Given the description of an element on the screen output the (x, y) to click on. 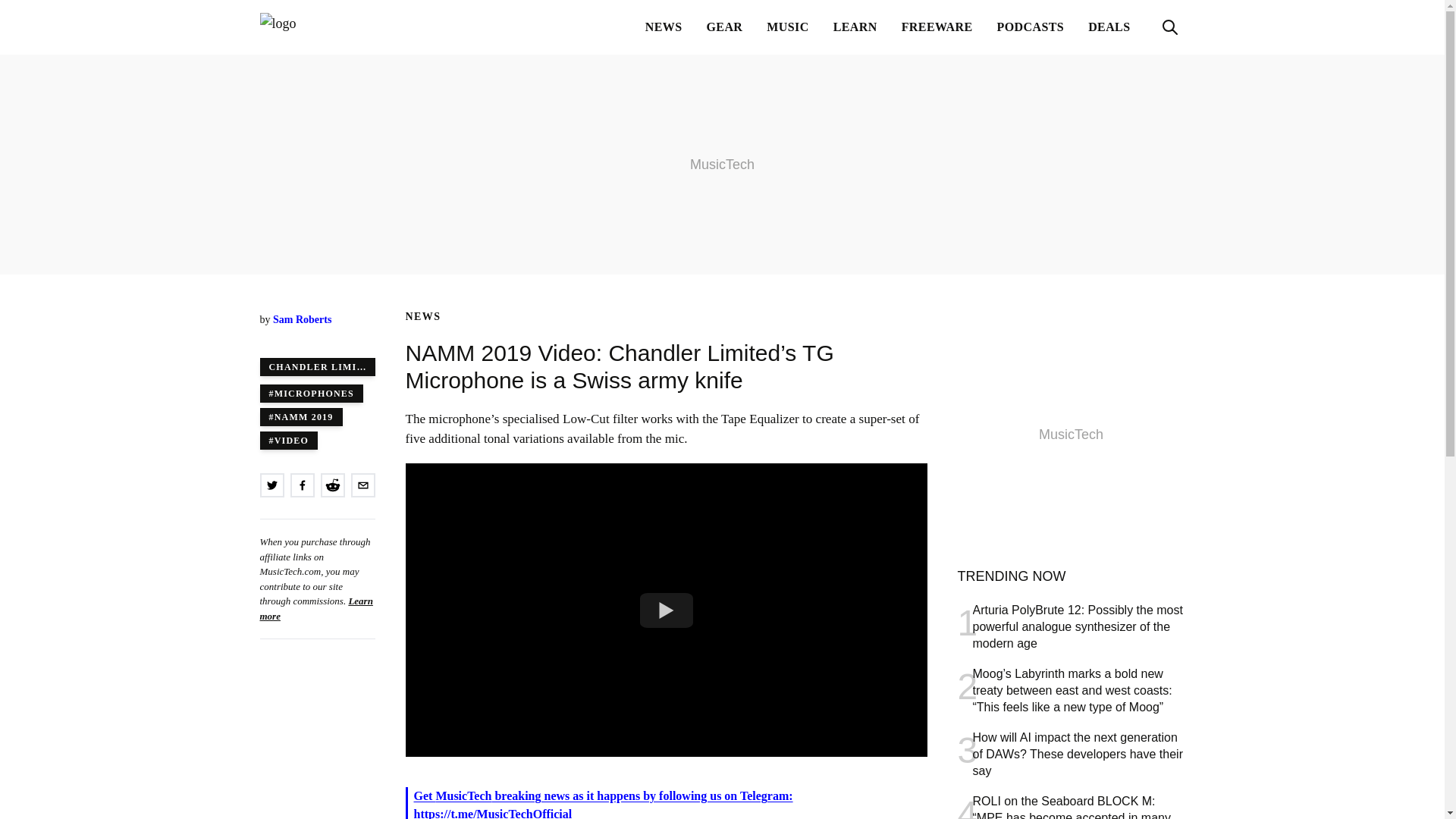
Chandler Limited (316, 366)
DEALS (1108, 27)
NEWS (422, 316)
LEARN (855, 27)
Published January 27, 2019 11:08PM (316, 335)
NAMM 2019 (300, 416)
NEWS (663, 27)
MusicTech (334, 27)
MUSIC (786, 27)
FREEWARE (936, 27)
Sam Roberts (302, 319)
Video (288, 440)
Microphones (310, 393)
News (422, 316)
PODCASTS (1030, 27)
